Given the description of an element on the screen output the (x, y) to click on. 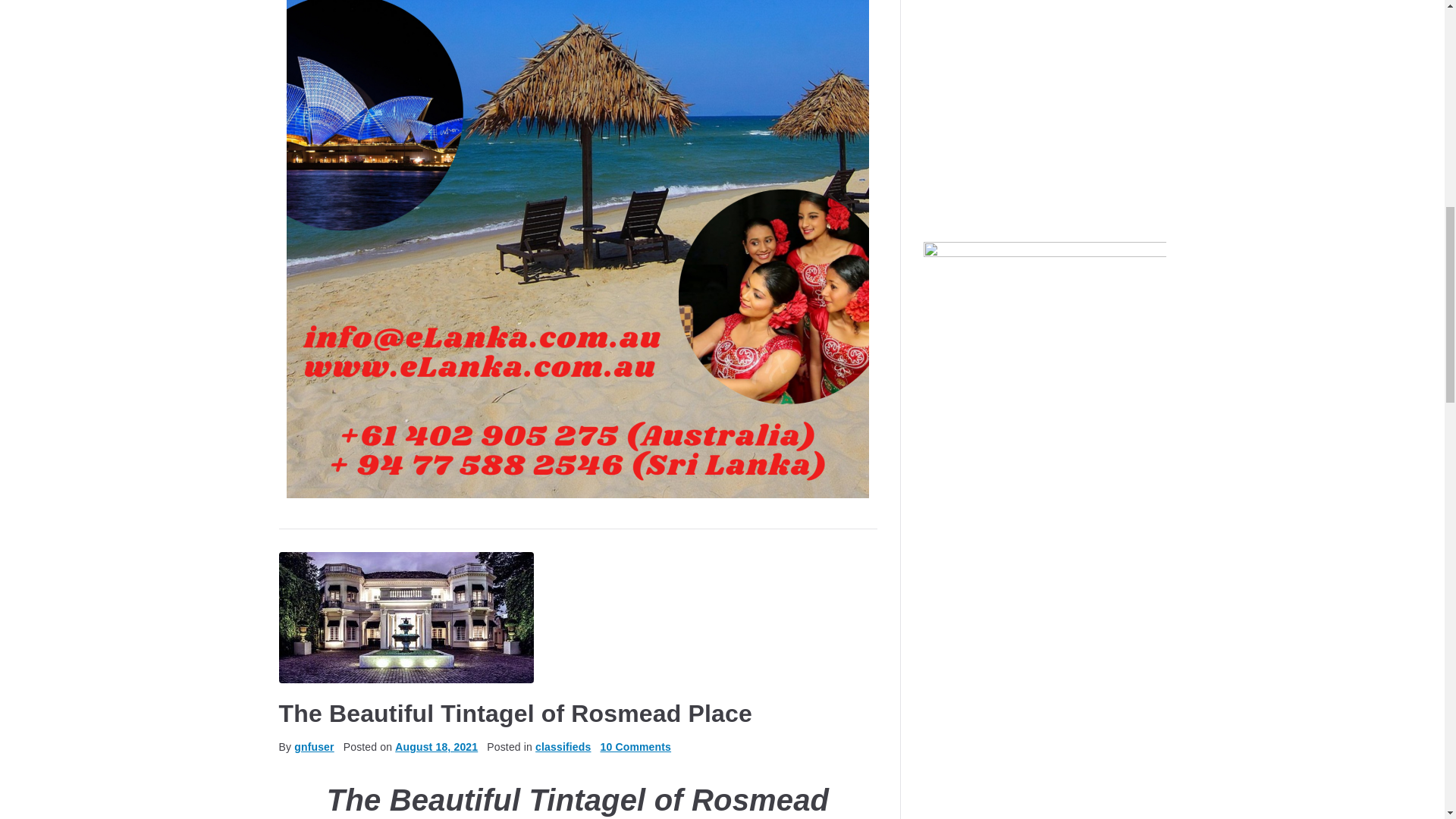
August 18, 2021 (435, 746)
10 Comments (635, 746)
The Beautiful Tintagel of Rosmead Place (515, 713)
classifieds (563, 746)
gnfuser (313, 746)
